Given the description of an element on the screen output the (x, y) to click on. 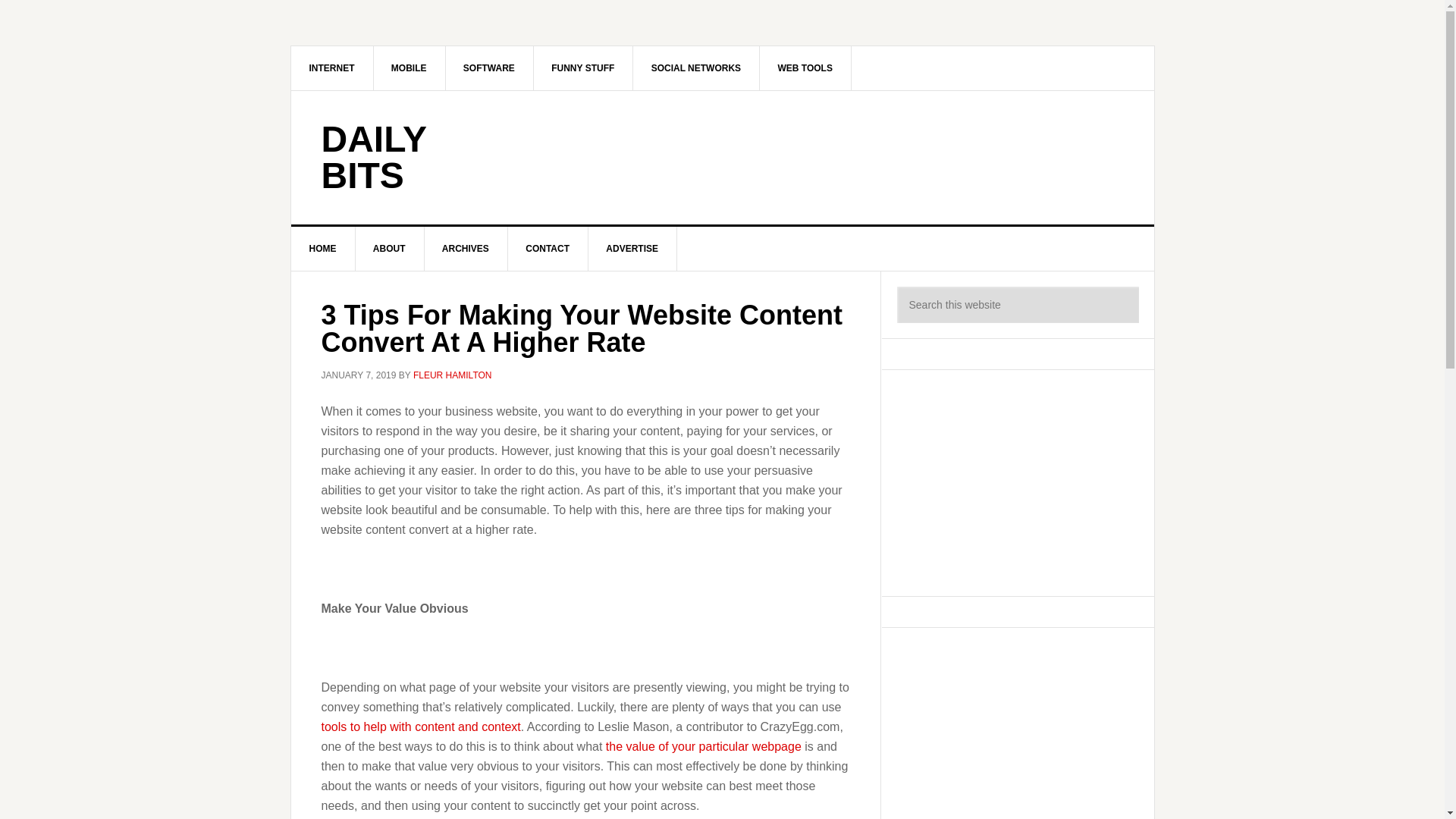
SOFTWARE (489, 67)
MOBILE (408, 67)
HOME (323, 248)
ARCHIVES (465, 248)
FLEUR HAMILTON (452, 375)
ABOUT (390, 248)
WEB TOOLS (804, 67)
DAILY BITS (373, 156)
